Given the description of an element on the screen output the (x, y) to click on. 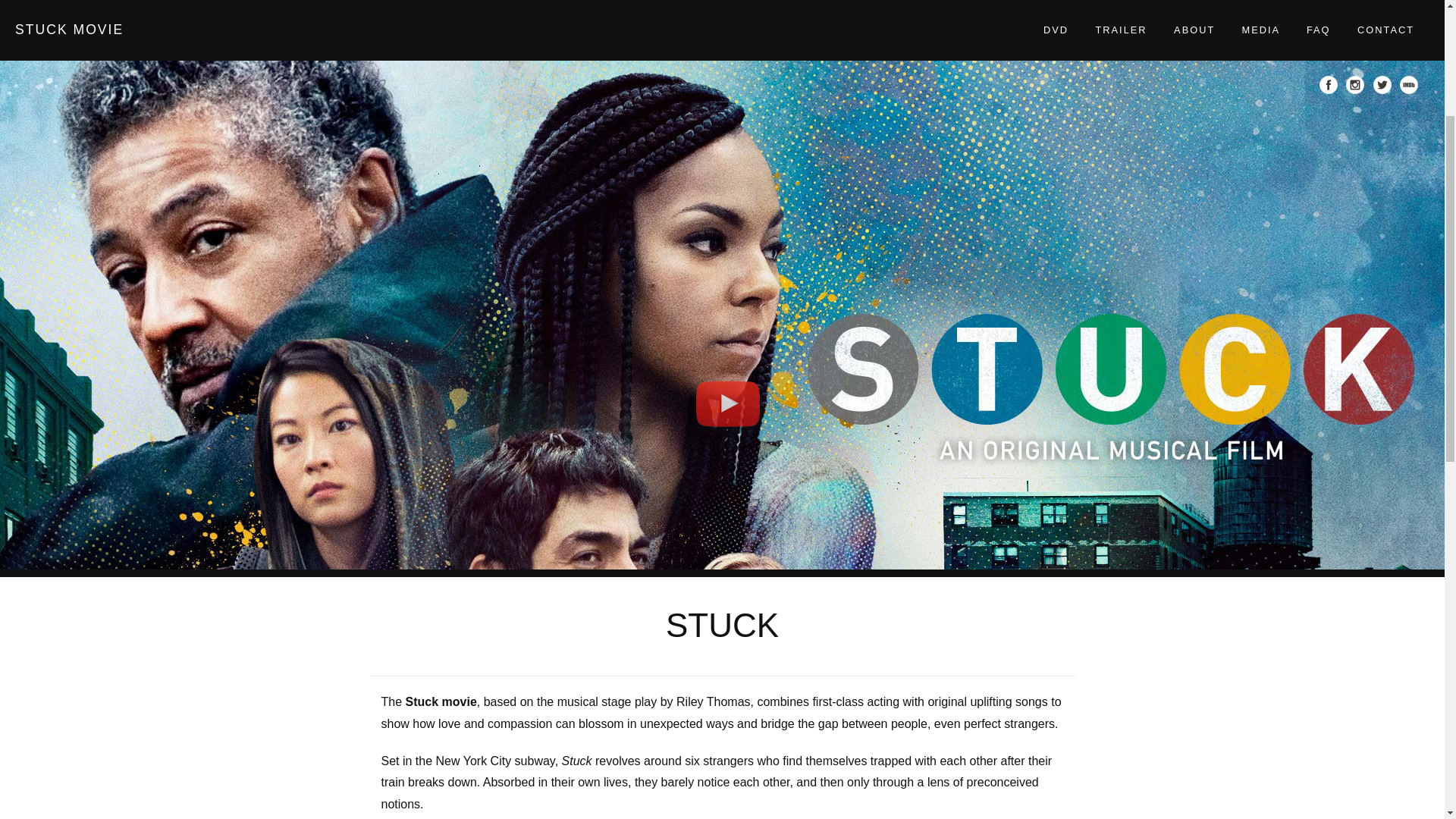
Watch the Stuck trailer now! (727, 159)
